Given the description of an element on the screen output the (x, y) to click on. 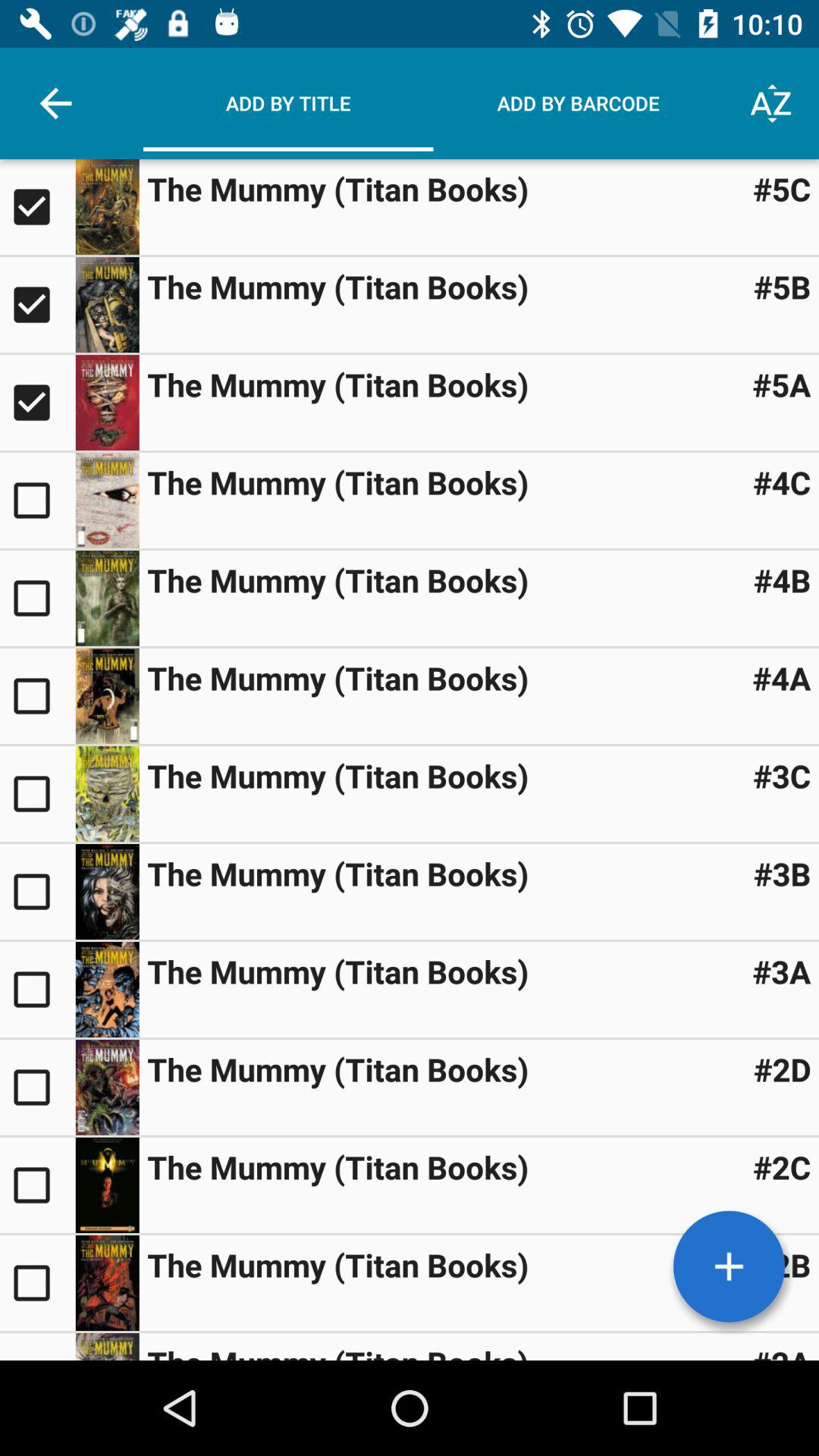
choose item next to the the mummy titan (782, 775)
